Given the description of an element on the screen output the (x, y) to click on. 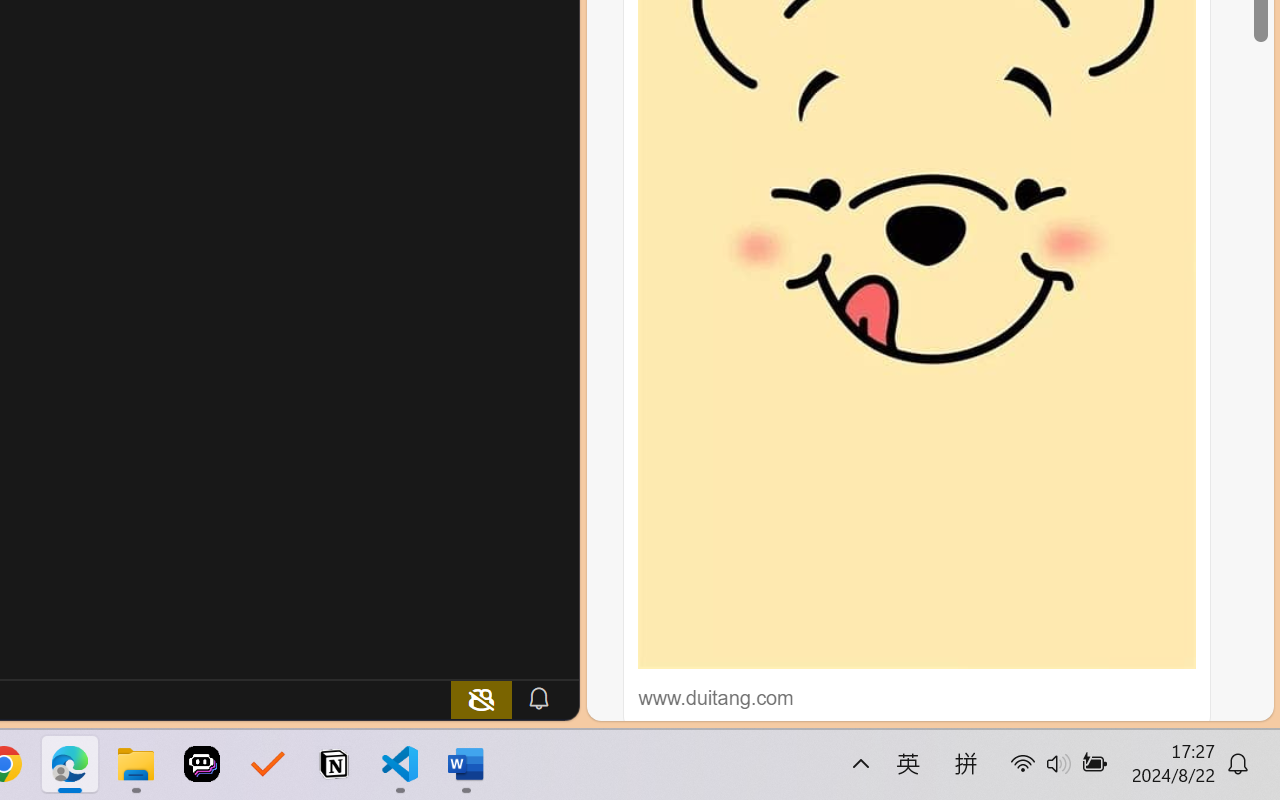
copilot-notconnected, Copilot error (click for details) (481, 698)
Notifications (537, 698)
